Given the description of an element on the screen output the (x, y) to click on. 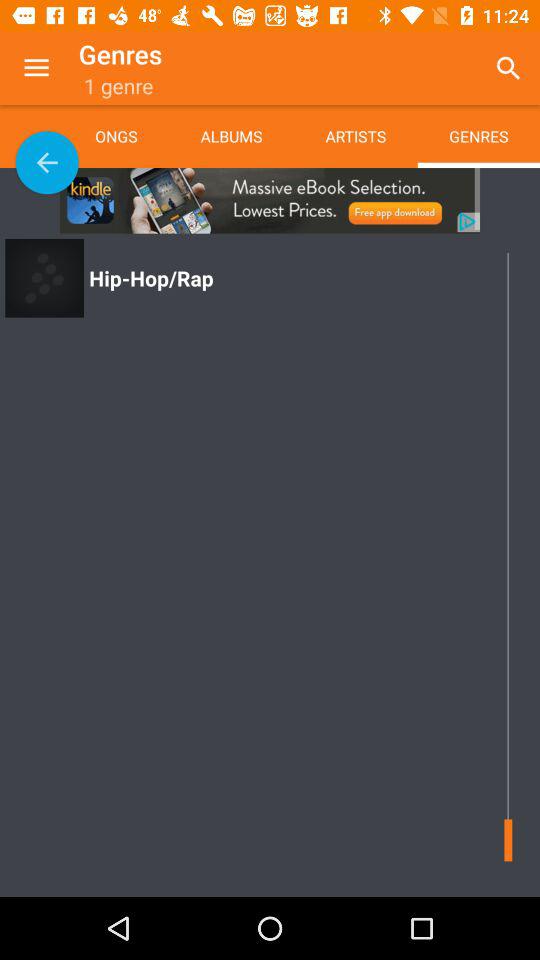
turn on the app next to genres app (36, 68)
